Given the description of an element on the screen output the (x, y) to click on. 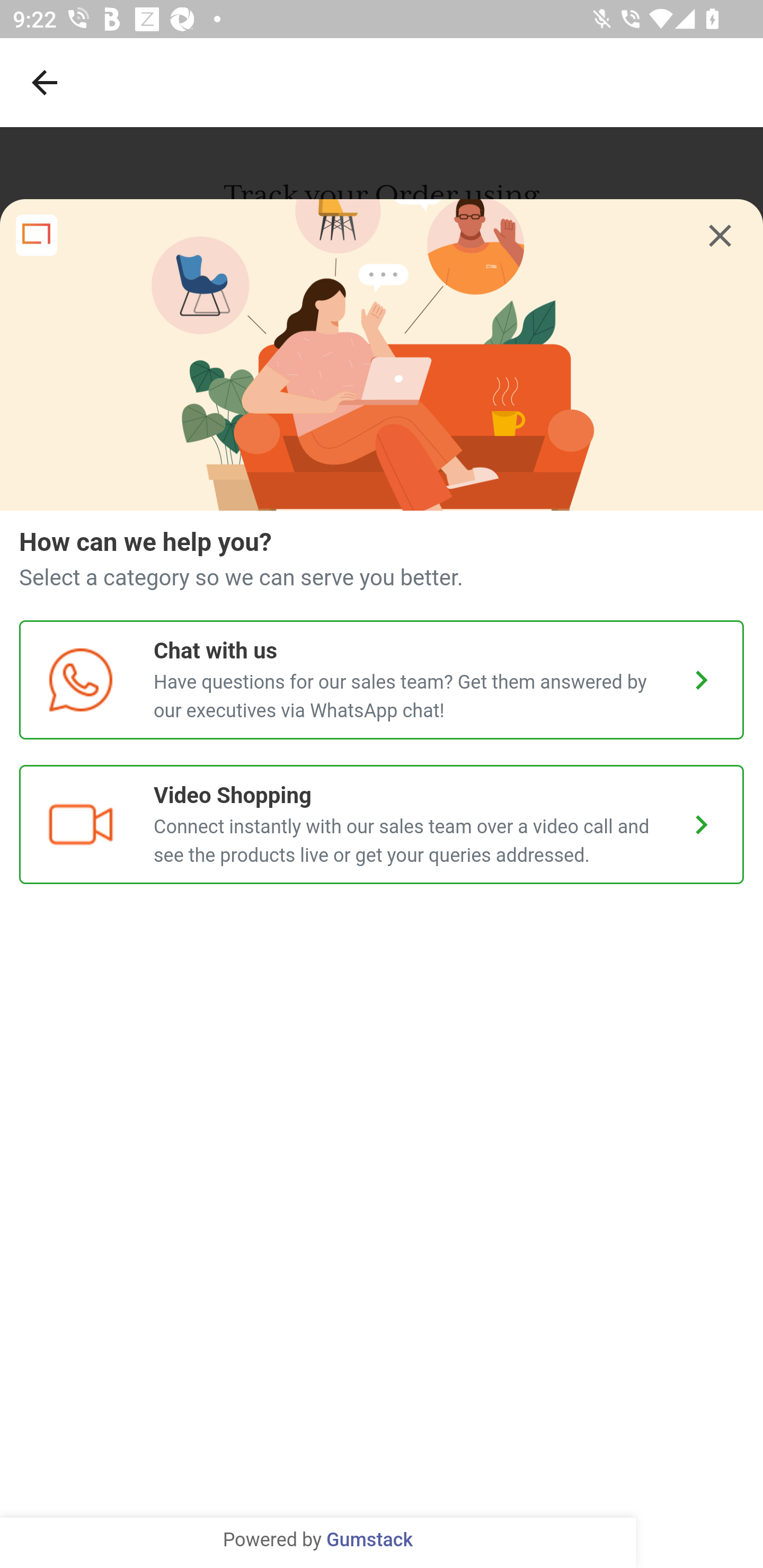
Navigate up (44, 82)
clear (720, 235)
Gumstack (369, 1540)
